Given the description of an element on the screen output the (x, y) to click on. 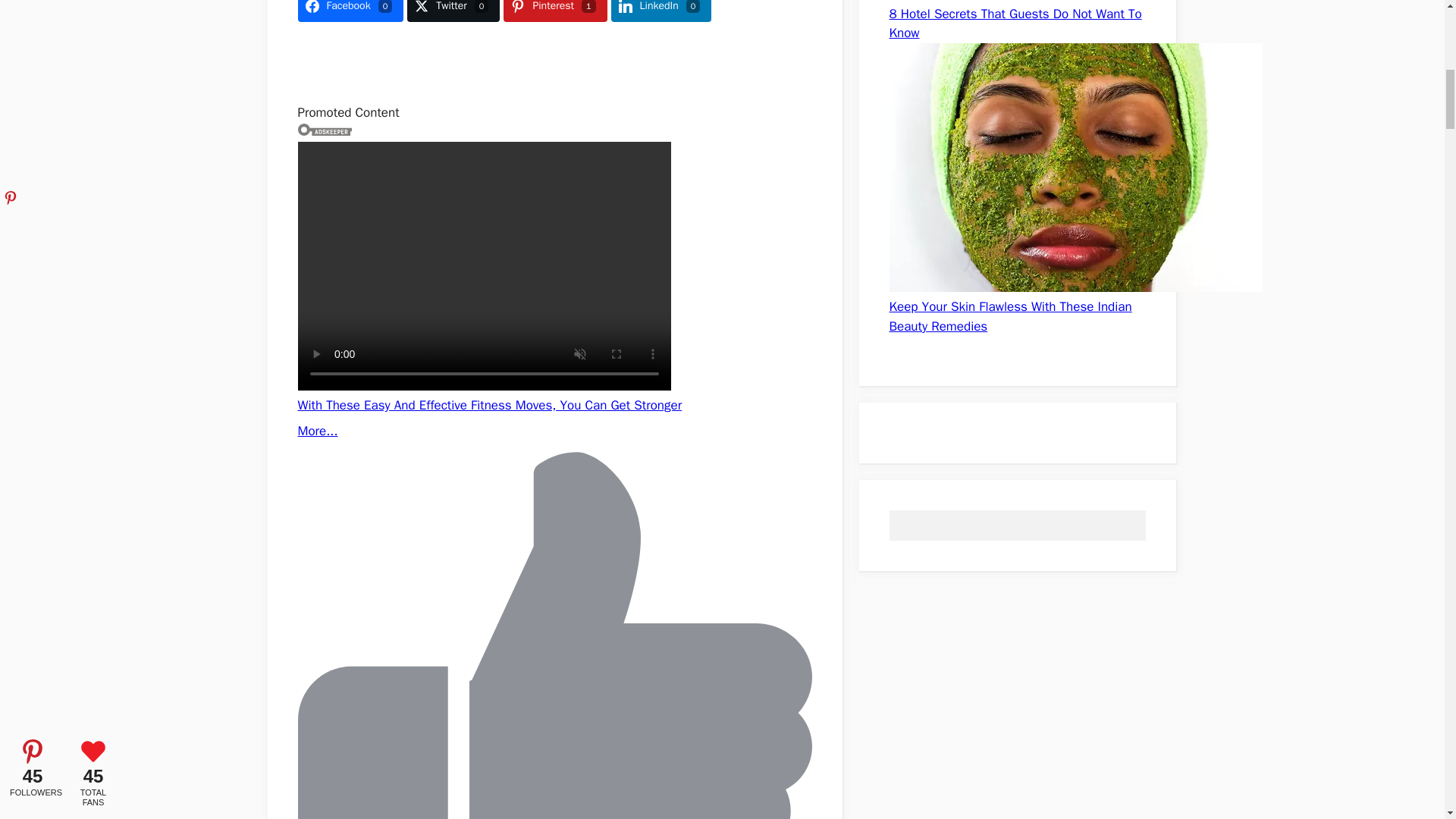
LinkedIn0 (661, 11)
Facebook0 (350, 11)
Share on Facebook (350, 11)
Share on Twitter (453, 11)
Share on LinkedIn (661, 11)
Share on Pinterest (555, 11)
Twitter0 (453, 11)
Pinterest1 (555, 11)
